Given the description of an element on the screen output the (x, y) to click on. 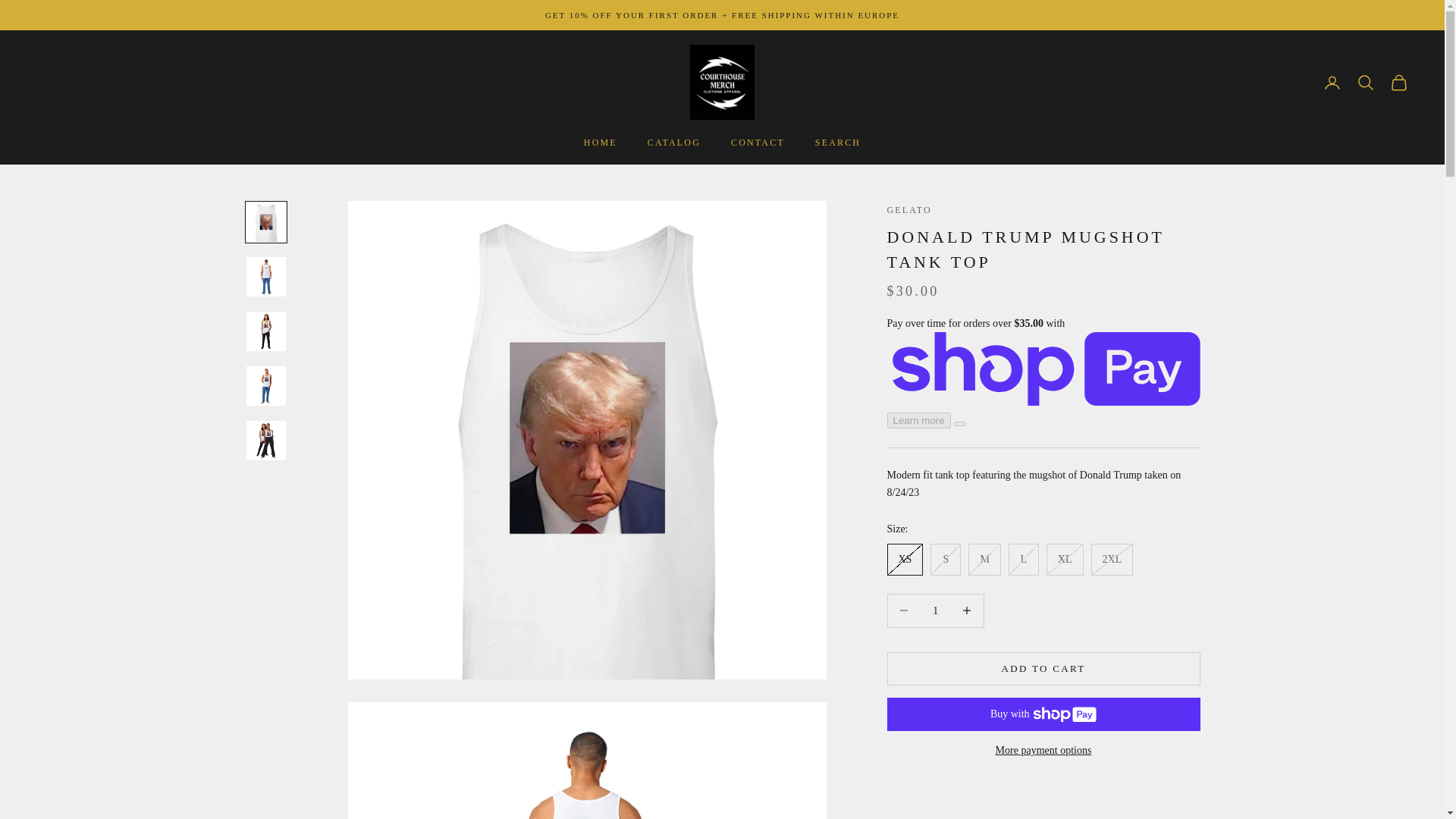
GELATO (908, 209)
Open search (1365, 82)
CATALOG (673, 142)
Decrease quantity (903, 610)
ADD TO CART (1042, 668)
Decrease quantity (967, 610)
HOME (600, 142)
1 (935, 610)
SEARCH (837, 142)
